Given the description of an element on the screen output the (x, y) to click on. 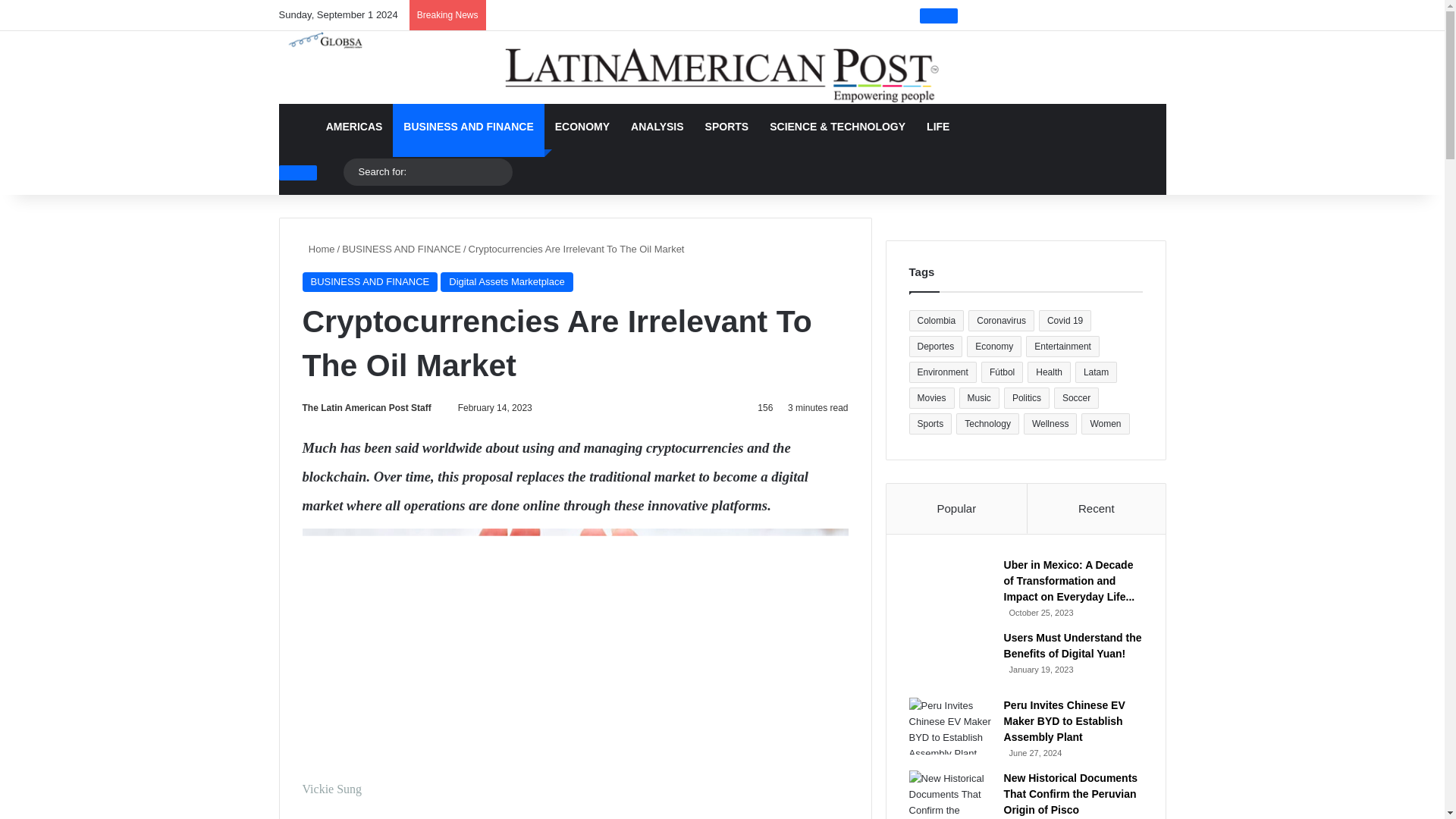
BUSINESS AND FINANCE (468, 126)
BUSINESS AND FINANCE (401, 248)
ECONOMY (582, 126)
Digital Assets Marketplace (506, 281)
Search for: (496, 171)
LatinAmerican Post (722, 67)
ANALYSIS (657, 126)
The Latin American Post Staff (365, 407)
Home (317, 248)
BUSINESS AND FINANCE (369, 281)
